Given the description of an element on the screen output the (x, y) to click on. 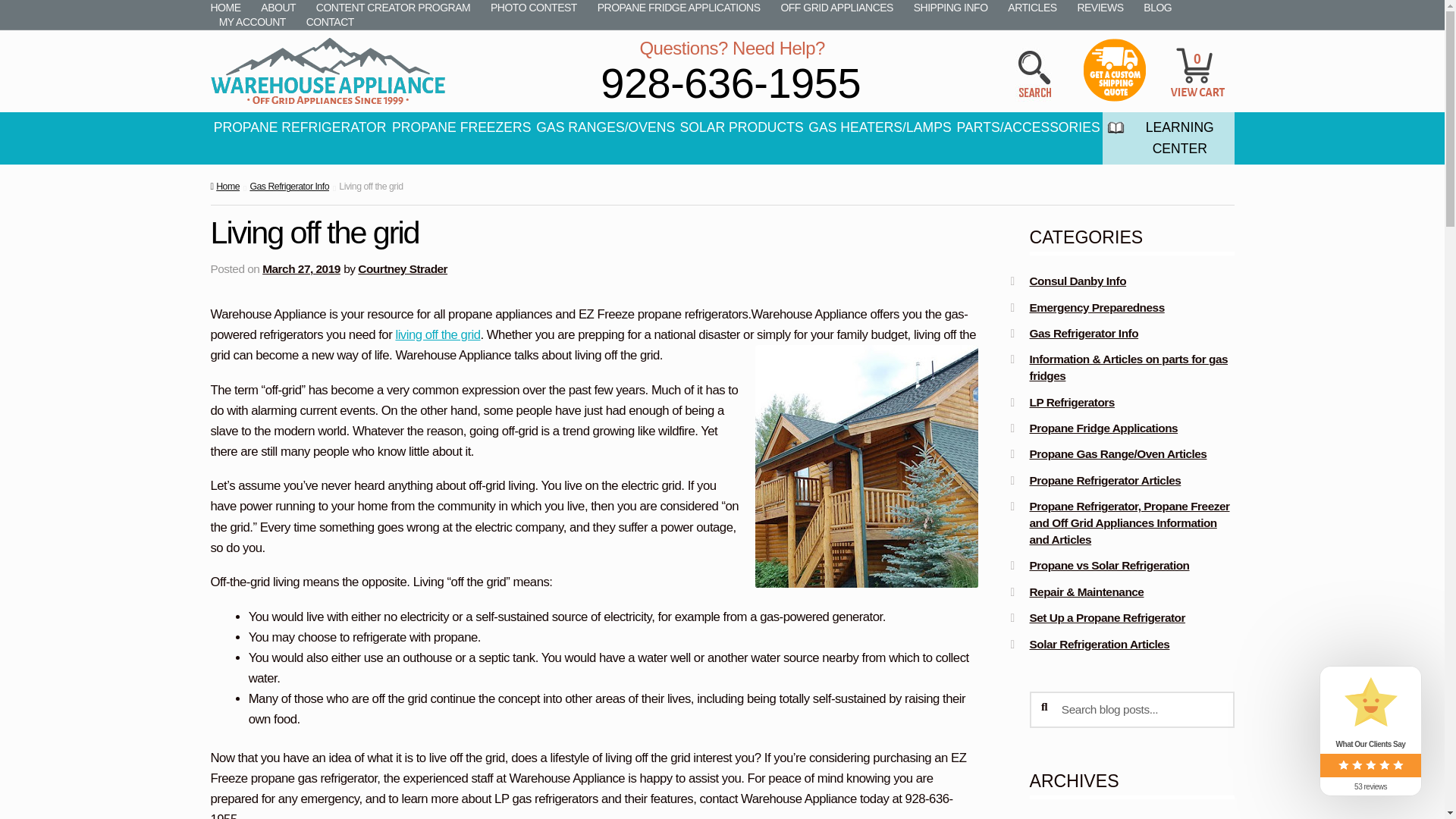
View your shopping cart (1198, 51)
SHIPPING INFO (950, 7)
PHOTO CONTEST (533, 7)
ARTICLES (1031, 7)
PROPANE FRIDGE APPLICATIONS (678, 7)
ABOUT (277, 7)
REVIEWS (1100, 7)
HOME (229, 7)
OFF GRID APPLIANCES (836, 7)
CONTENT CREATOR PROGRAM (393, 7)
